Given the description of an element on the screen output the (x, y) to click on. 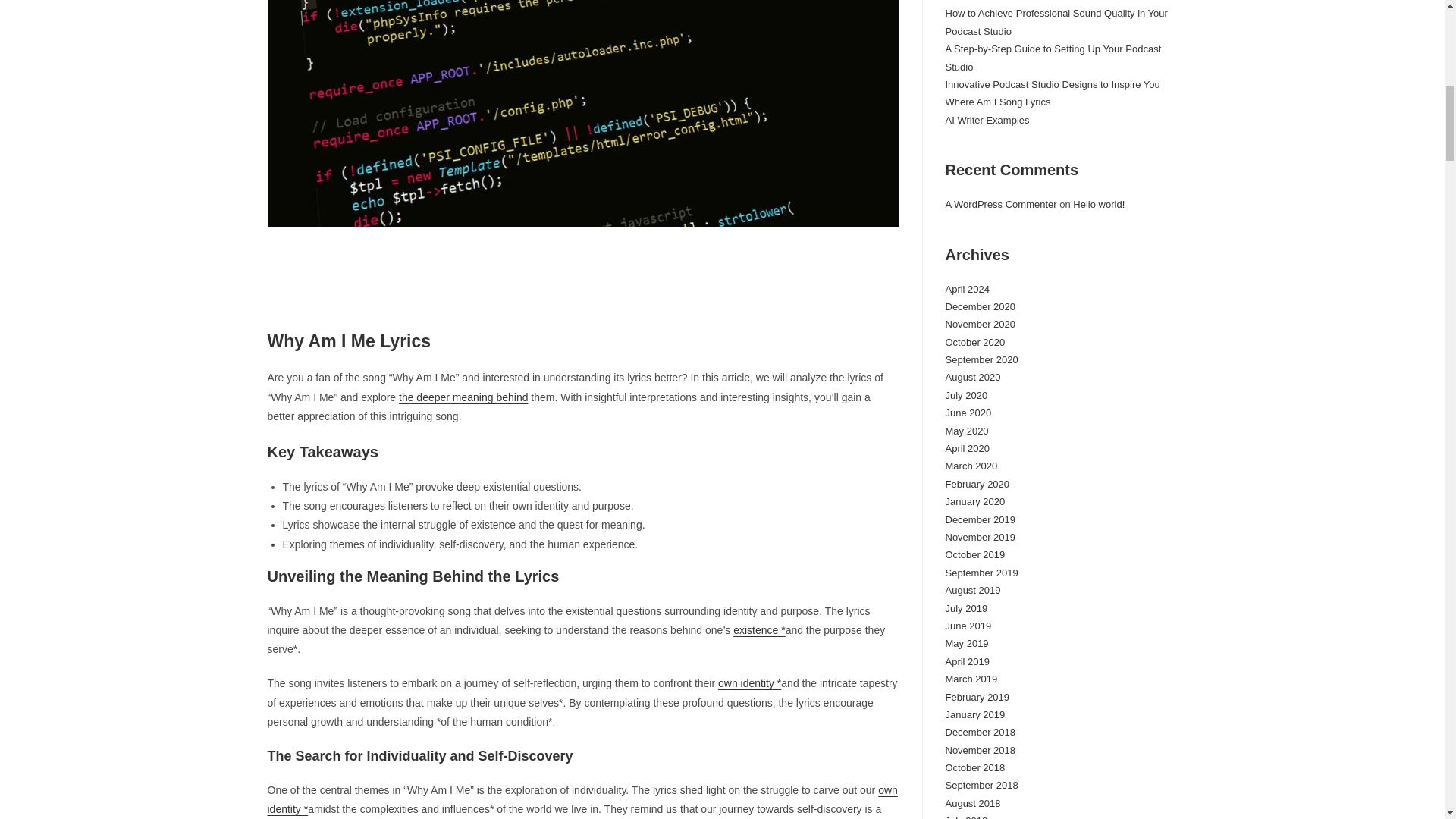
A WordPress Commenter (1000, 204)
Innovative Podcast Studio Designs to Inspire You (1051, 84)
April 2024 (967, 288)
Hello world! (1098, 204)
A Step-by-Step Guide to Setting Up Your Podcast Studio (1052, 57)
the deeper meaning behind (462, 397)
AI Writer Examples (986, 120)
Where Am I Song Lyrics (996, 101)
December 2020 (979, 306)
